Given the description of an element on the screen output the (x, y) to click on. 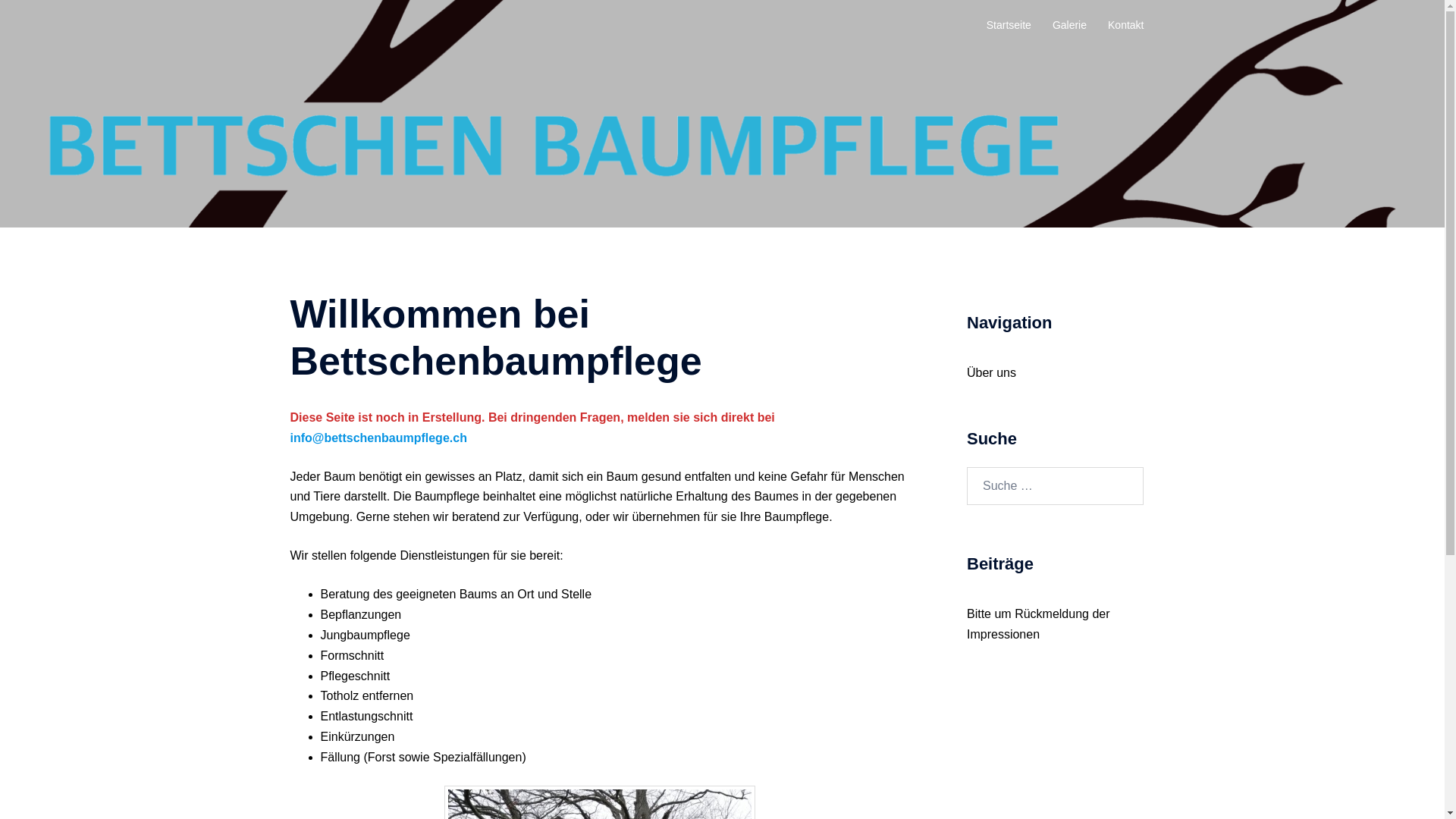
Kontakt Element type: text (1125, 25)
Suche Element type: text (45, 18)
Galerie Element type: text (1069, 25)
Startseite Element type: text (1008, 25)
